Given the description of an element on the screen output the (x, y) to click on. 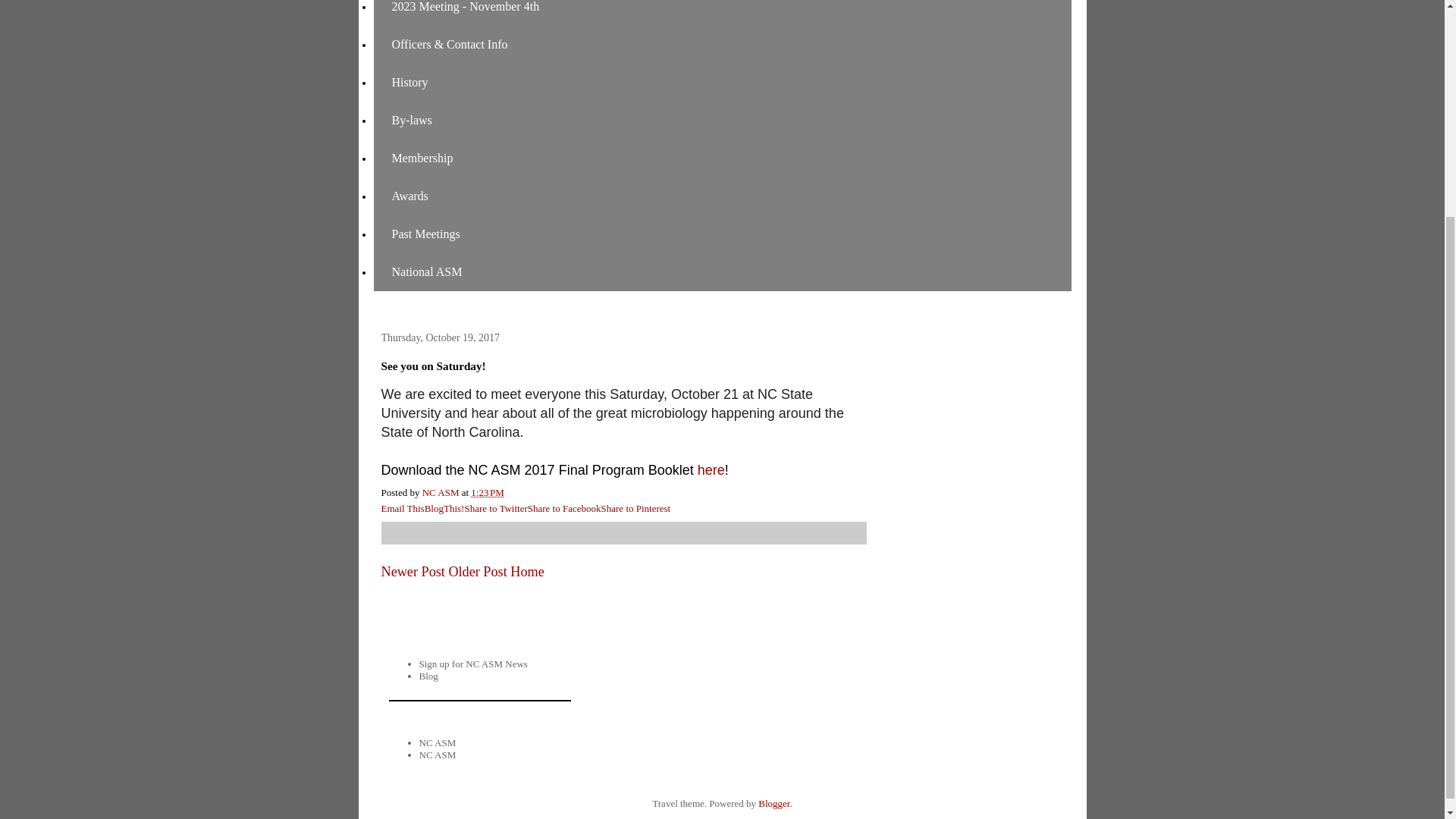
Share to Pinterest (636, 508)
permanent link (486, 491)
Share to Facebook (564, 508)
BlogThis! (444, 508)
Blogger (773, 803)
Membership (421, 158)
Share to Facebook (564, 508)
Share to Twitter (495, 508)
Share to Twitter (495, 508)
Sign up for NC ASM News (473, 663)
here (711, 469)
Newer Post (412, 571)
Share to Pinterest (636, 508)
2023 Meeting - November 4th (464, 12)
Awards (408, 196)
